Given the description of an element on the screen output the (x, y) to click on. 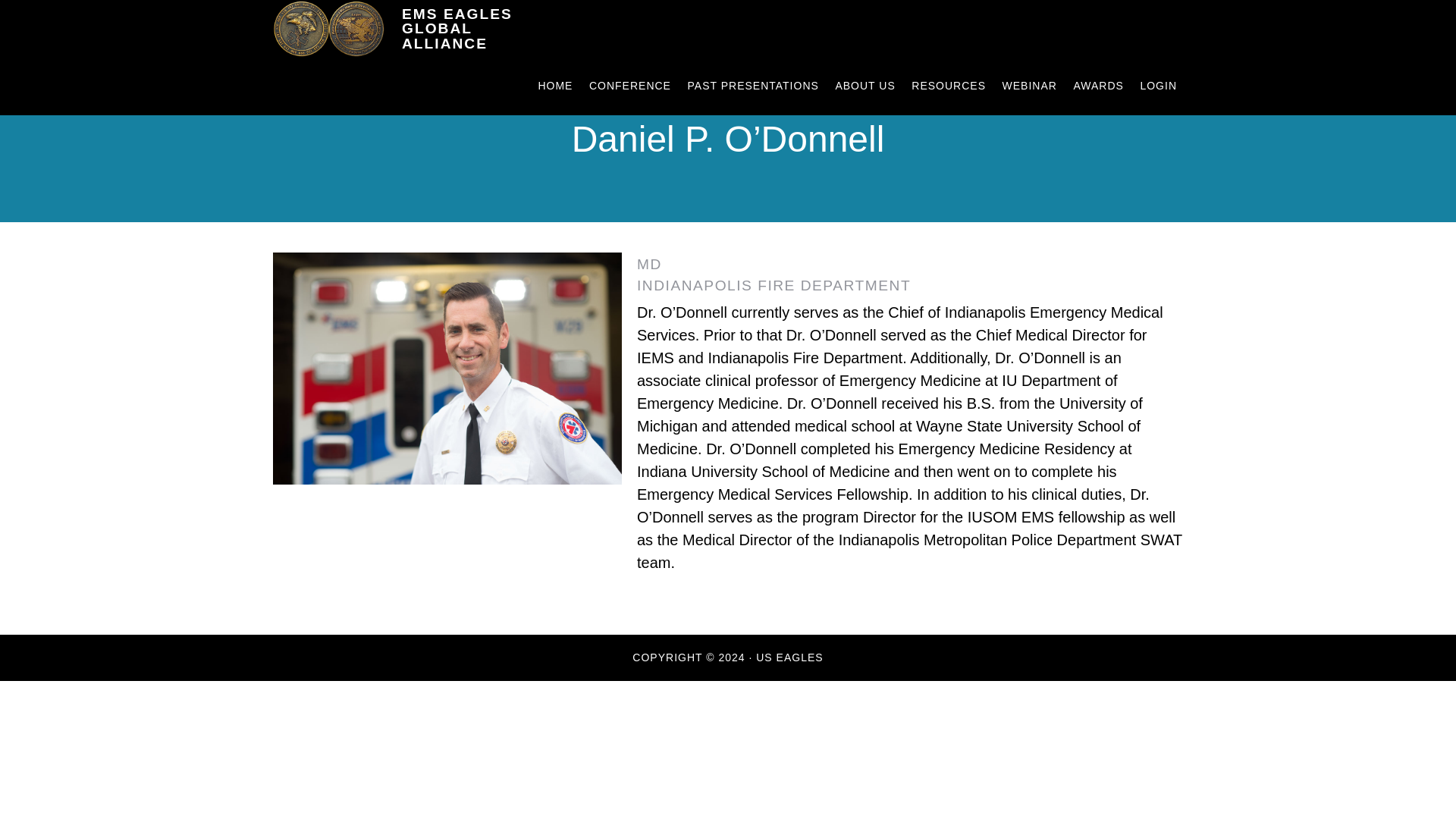
AWARDS (1098, 86)
CONFERENCE (630, 86)
PAST PRESENTATIONS (753, 86)
EMS EAGLES GLOBAL ALLIANCE (424, 28)
RESOURCES (948, 86)
WEBINAR (1028, 86)
US EAGLES (788, 657)
ABOUT US (864, 86)
